Given the description of an element on the screen output the (x, y) to click on. 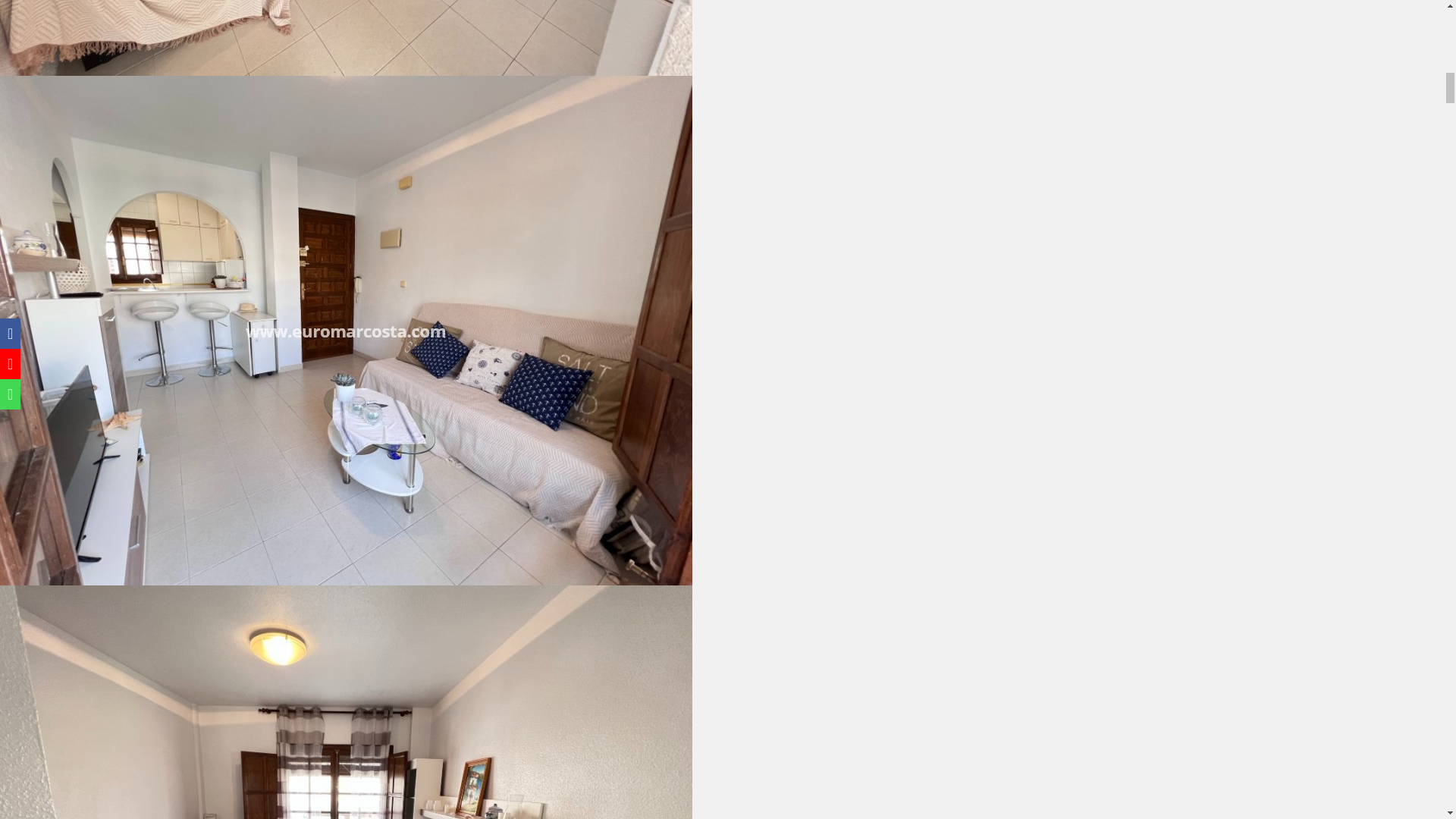
Short time rental - Penthouse - Torrevieja - TORREVIEJA (346, 38)
